Given the description of an element on the screen output the (x, y) to click on. 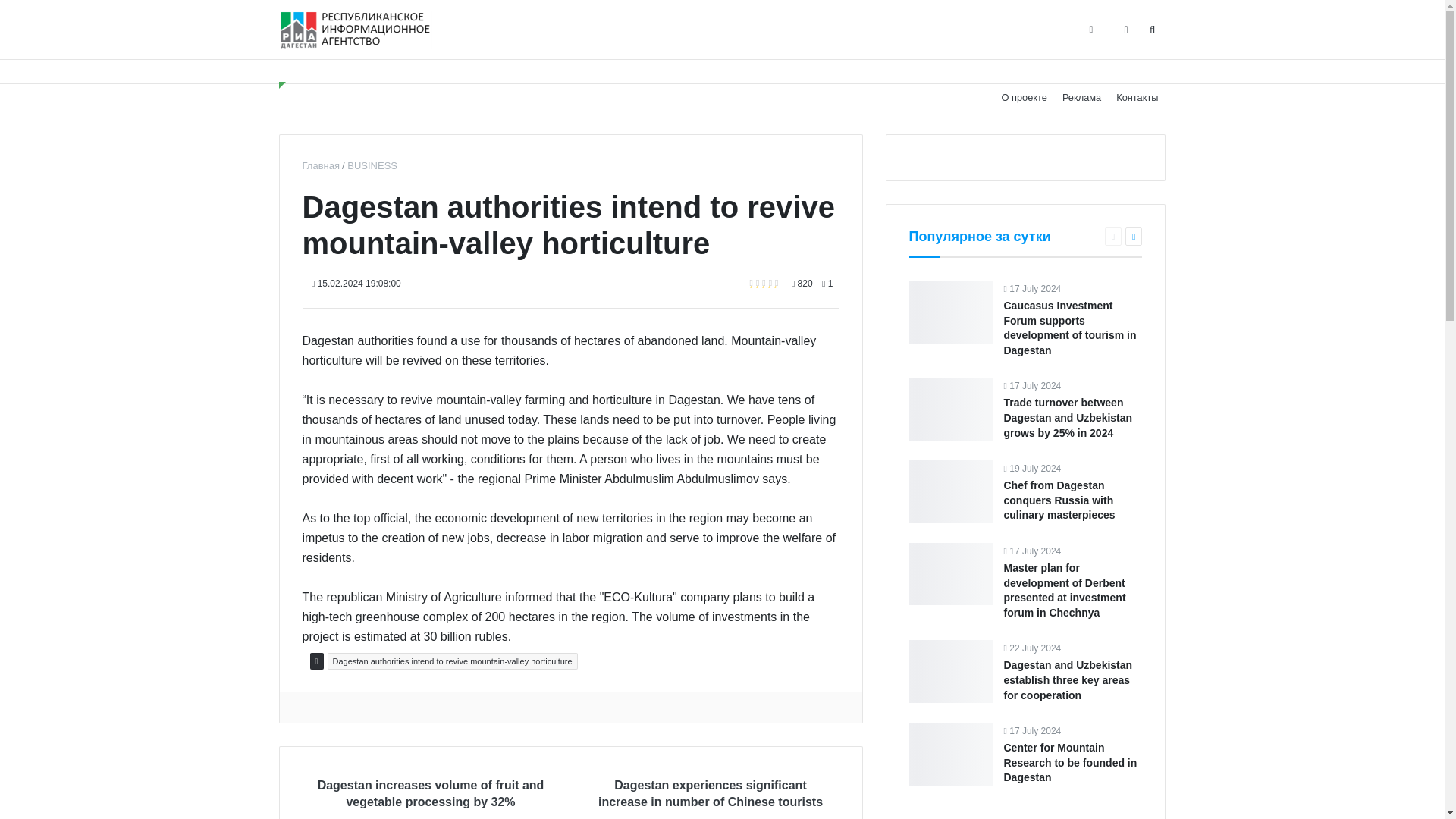
BUSINESS (371, 165)
English (1143, 72)
BUSINESS (371, 165)
